Given the description of an element on the screen output the (x, y) to click on. 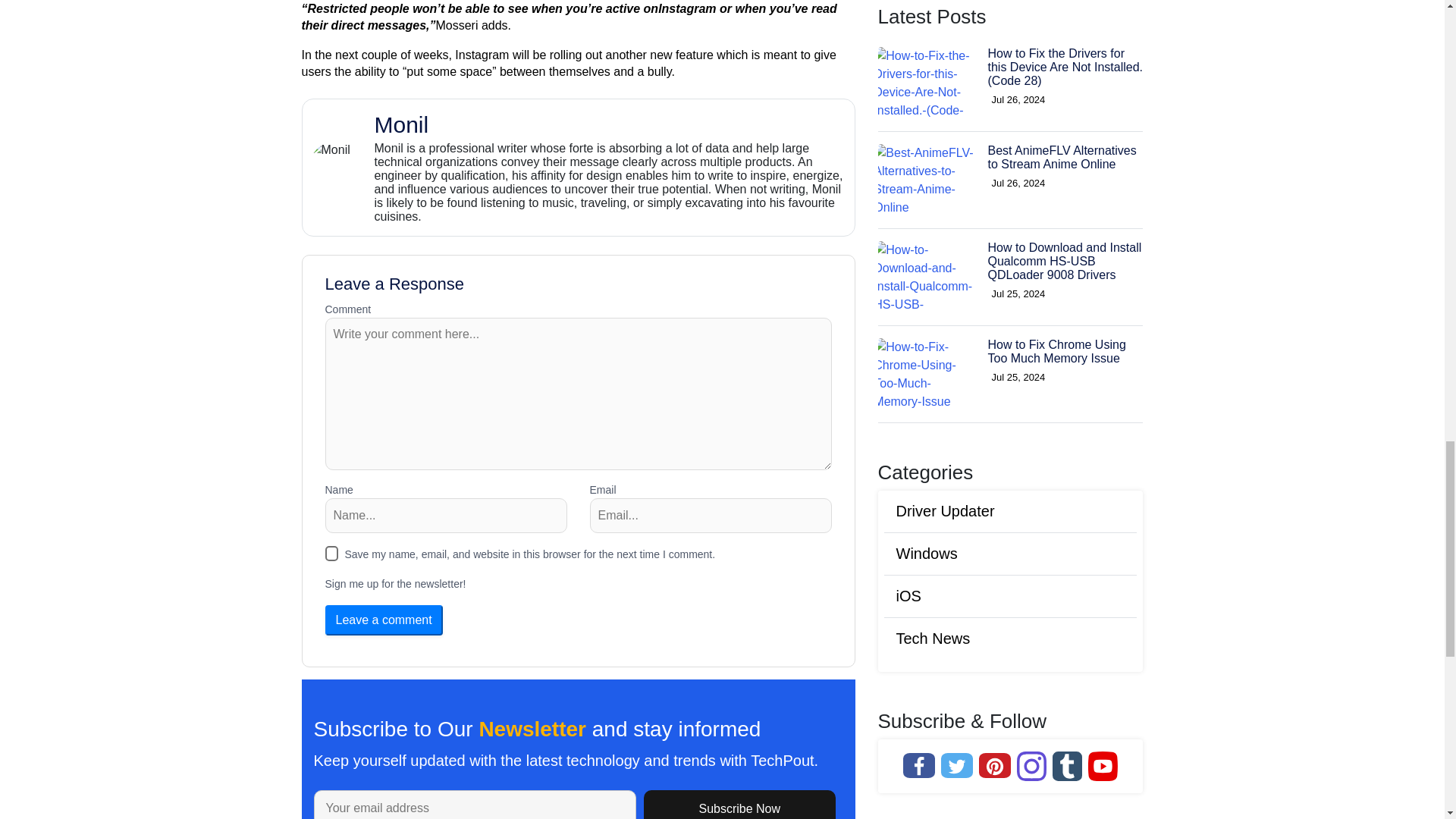
Monil (610, 124)
Subscribe Now (1010, 217)
Leave a comment (383, 620)
Subscribe Now (739, 804)
Subscribe Now (739, 804)
Leave a comment (383, 620)
